Given the description of an element on the screen output the (x, y) to click on. 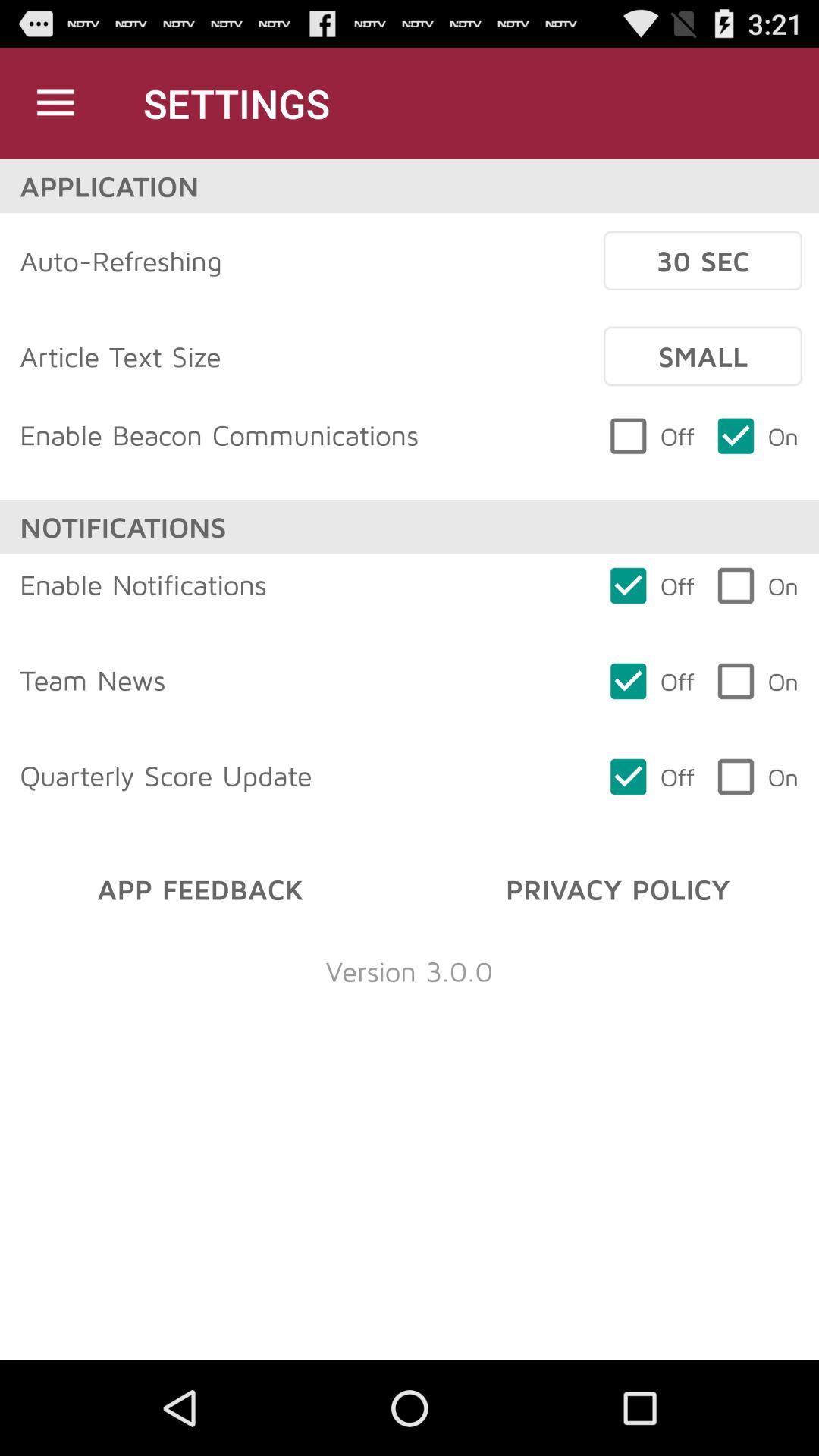
select the item below the app feedback item (409, 970)
